Given the description of an element on the screen output the (x, y) to click on. 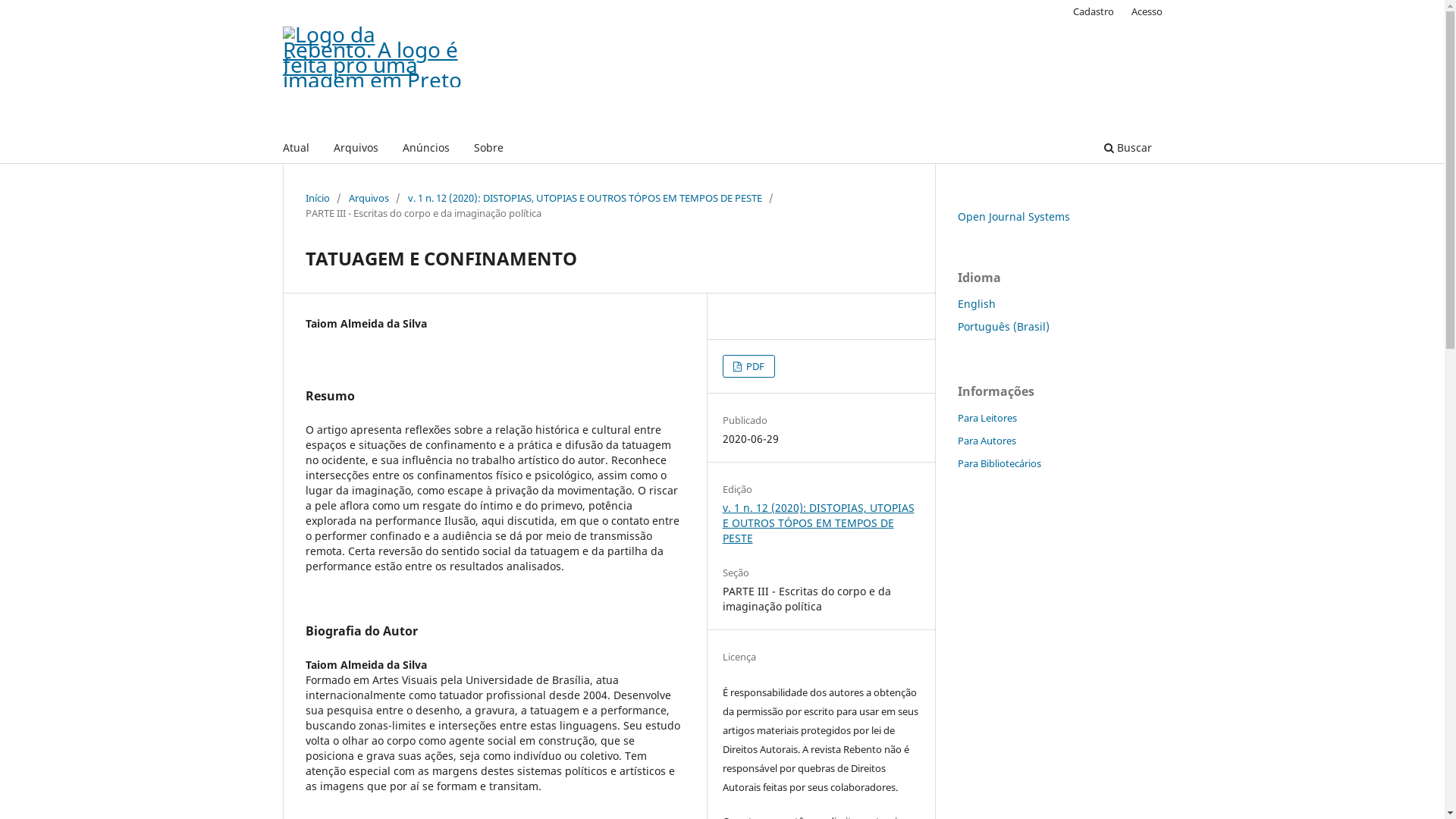
Cadastro Element type: text (1093, 11)
Sobre Element type: text (488, 149)
Arquivos Element type: text (354, 149)
PDF Element type: text (748, 365)
English Element type: text (975, 303)
Open Journal Systems Element type: text (1013, 216)
Buscar Element type: text (1127, 149)
Para Leitores Element type: text (986, 417)
Arquivos Element type: text (368, 197)
Para Autores Element type: text (986, 440)
Atual Element type: text (295, 149)
Acesso Element type: text (1146, 11)
